Given the description of an element on the screen output the (x, y) to click on. 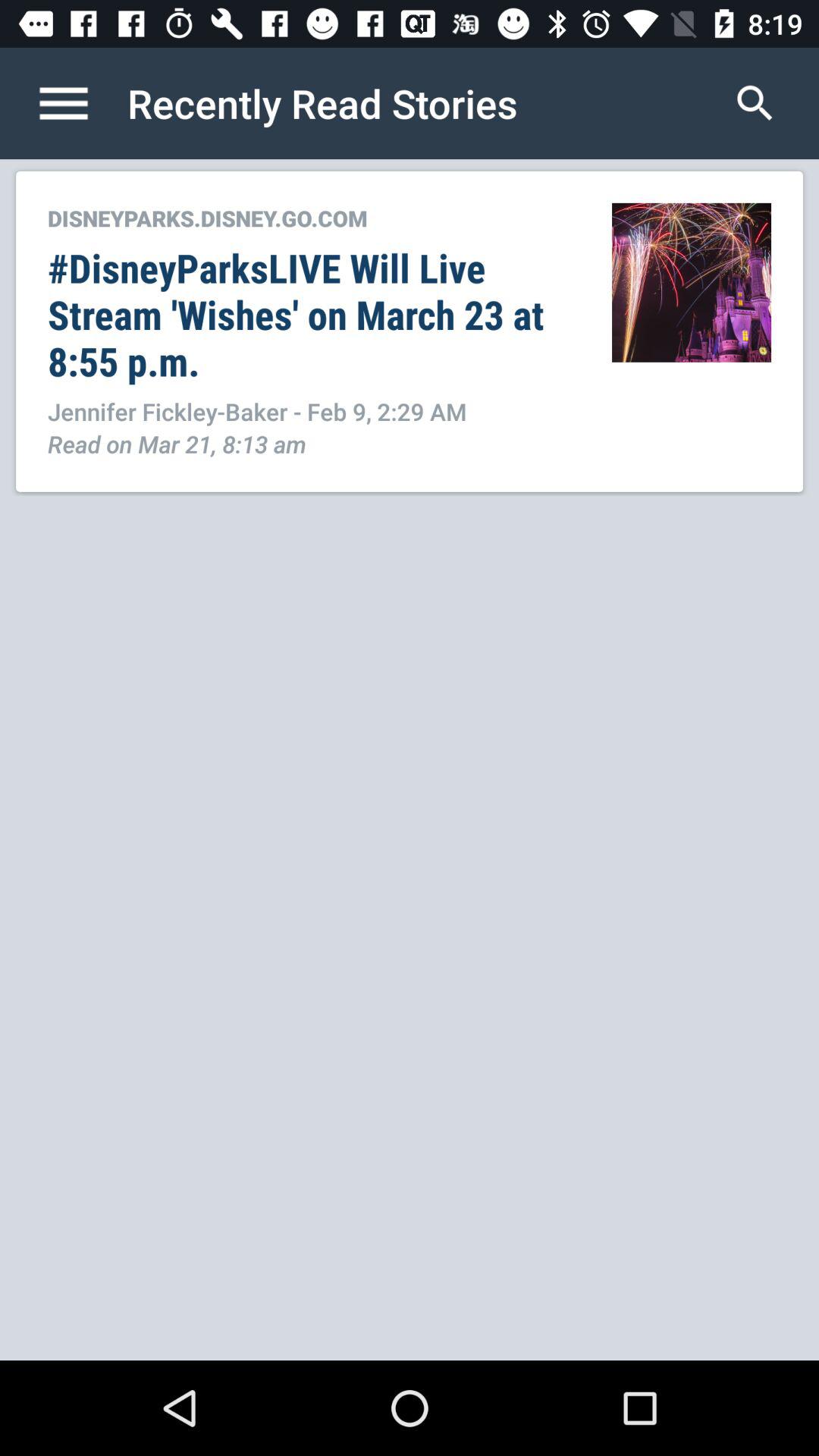
turn on item next to the disneyparks disney go item (691, 282)
